Given the description of an element on the screen output the (x, y) to click on. 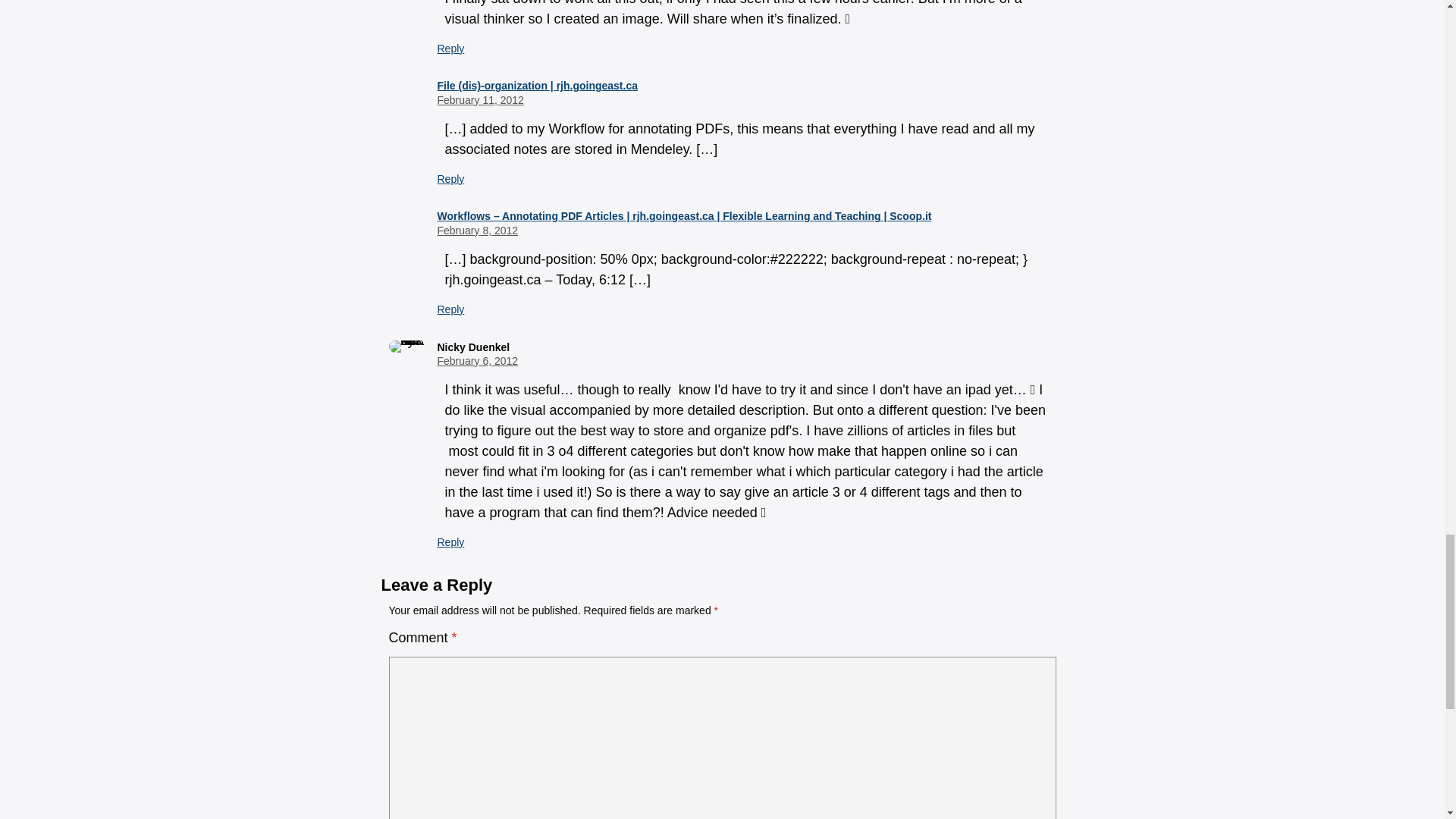
Reply (450, 48)
February 6, 2012 (477, 360)
February 8, 2012 (477, 230)
February 11, 2012 (479, 100)
Reply (450, 309)
Reply (450, 541)
Reply (450, 178)
